Given the description of an element on the screen output the (x, y) to click on. 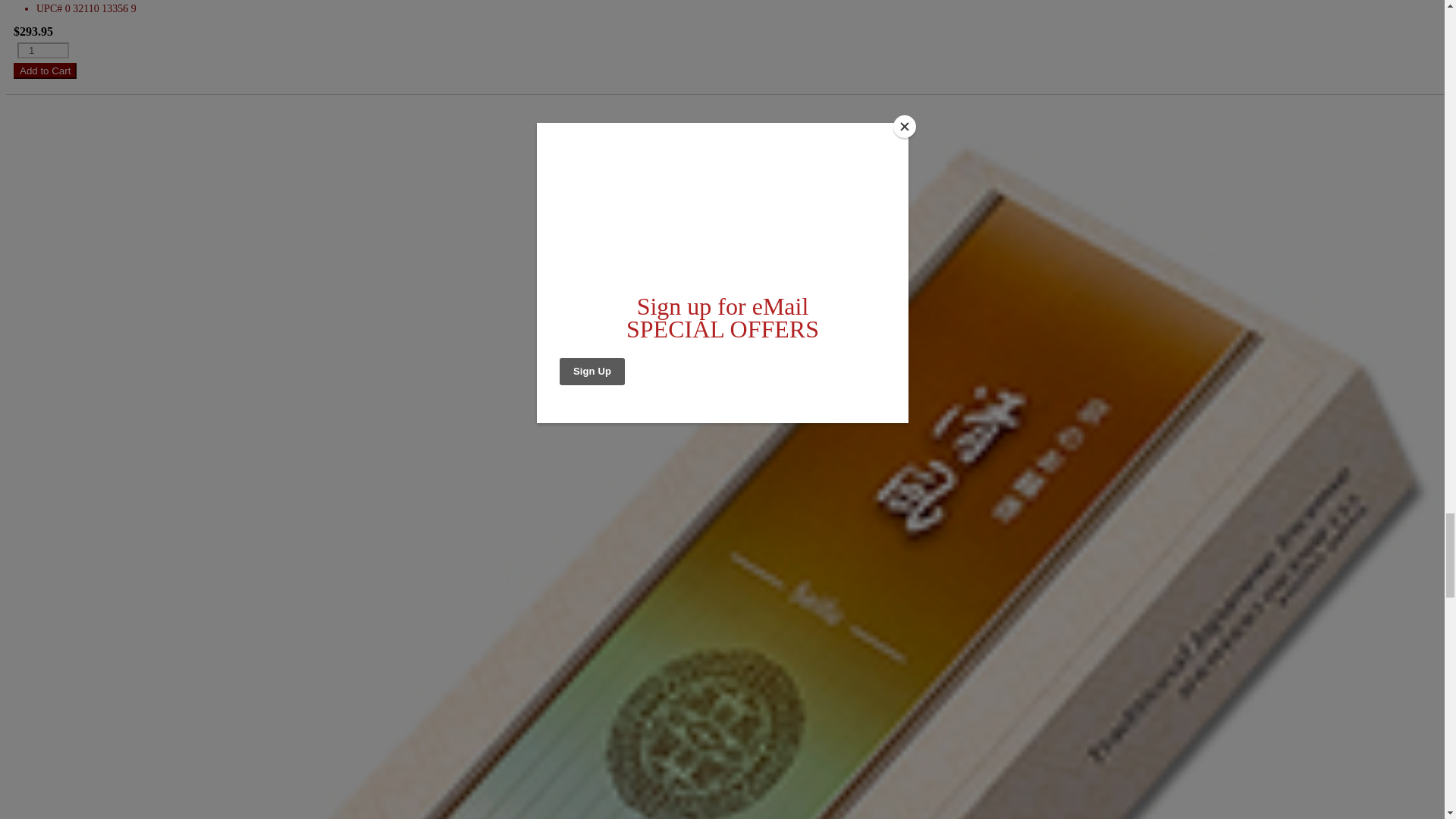
Add to Cart (45, 70)
1 (42, 50)
